Given the description of an element on the screen output the (x, y) to click on. 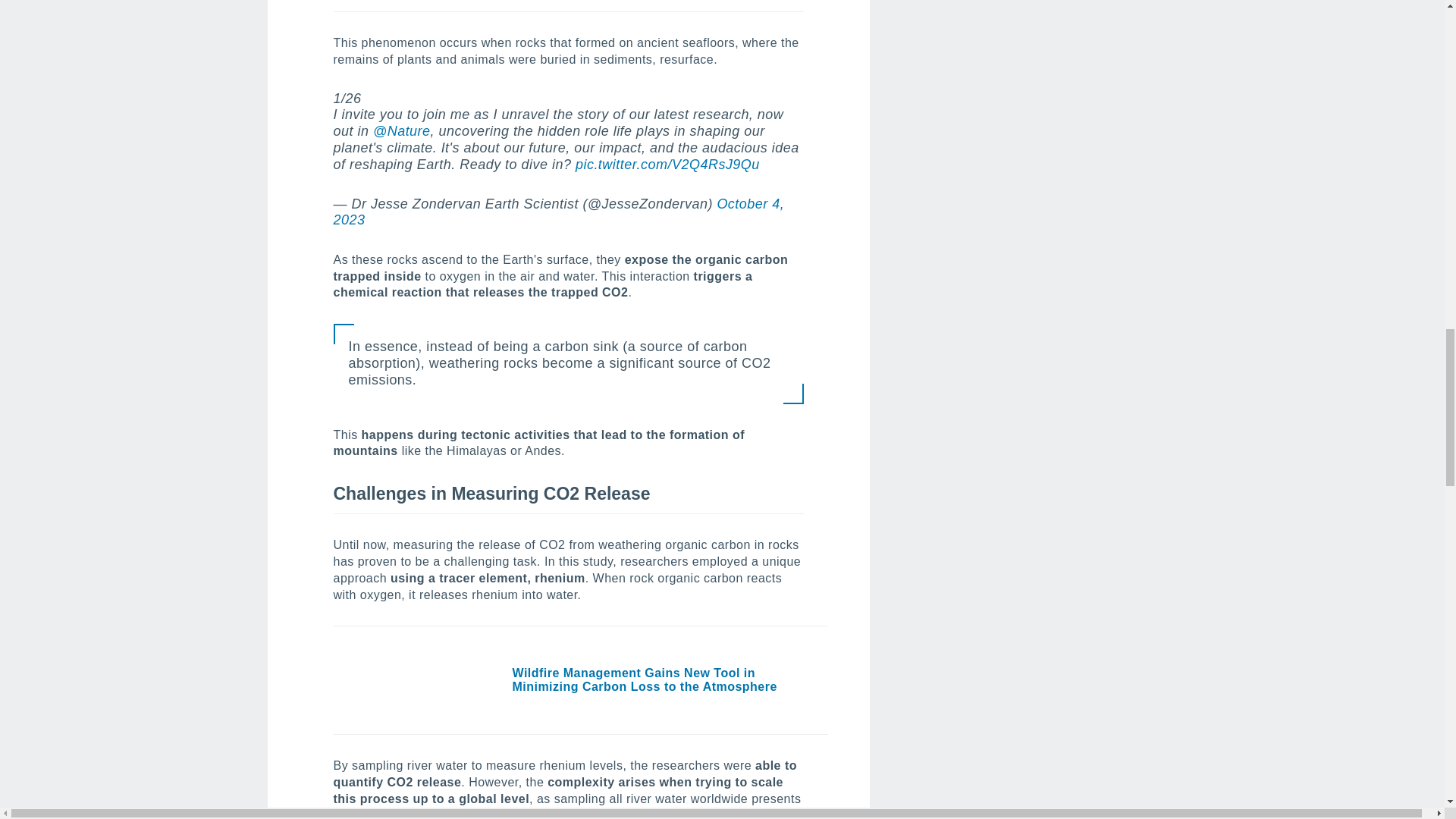
October 4, 2023 (558, 212)
